Given the description of an element on the screen output the (x, y) to click on. 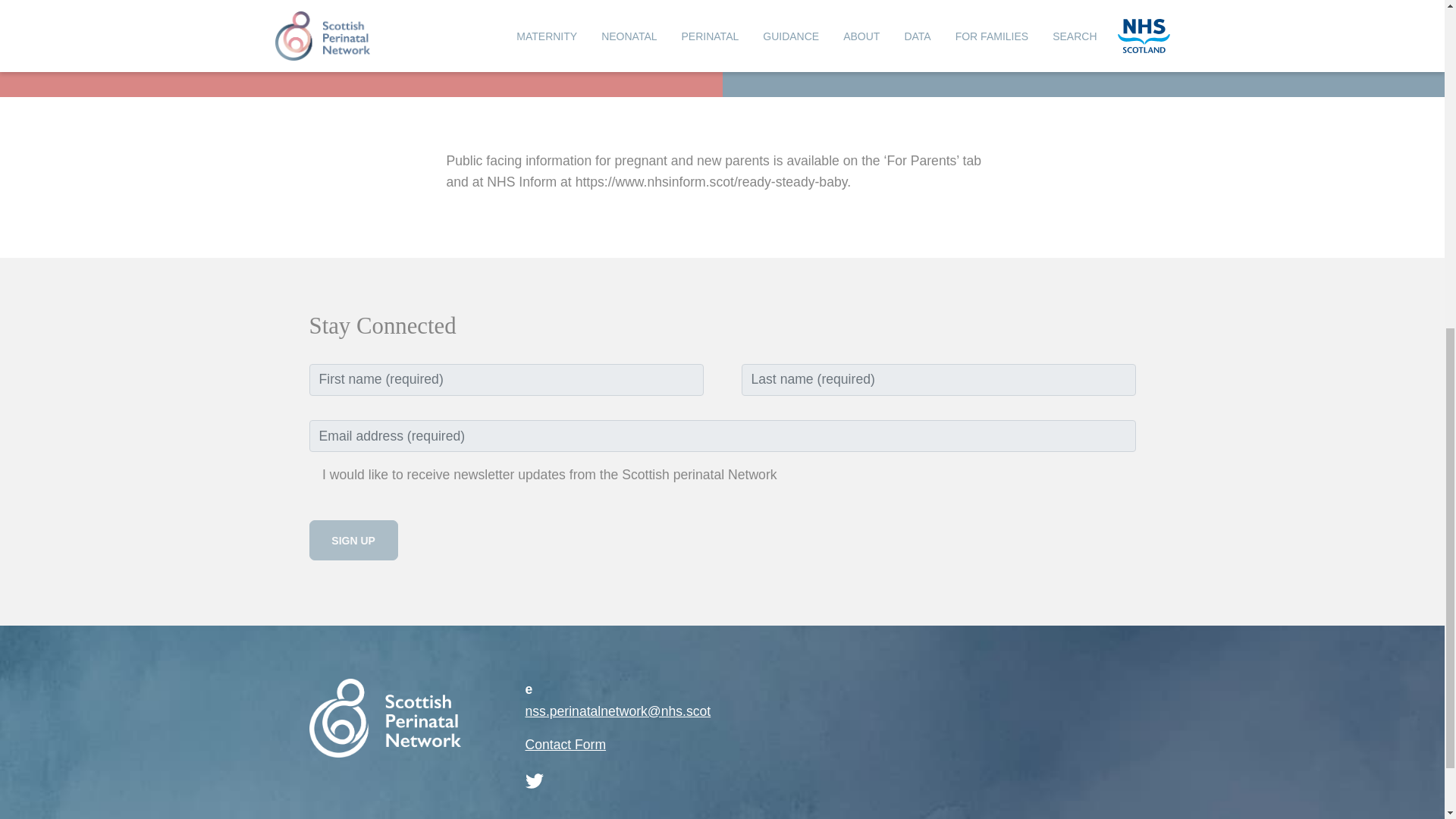
ABOUT MATERNITY (134, 2)
ABOUT NEONATAL (854, 2)
Sign Up (352, 540)
Sign Up (352, 540)
Contact Form (564, 744)
